Given the description of an element on the screen output the (x, y) to click on. 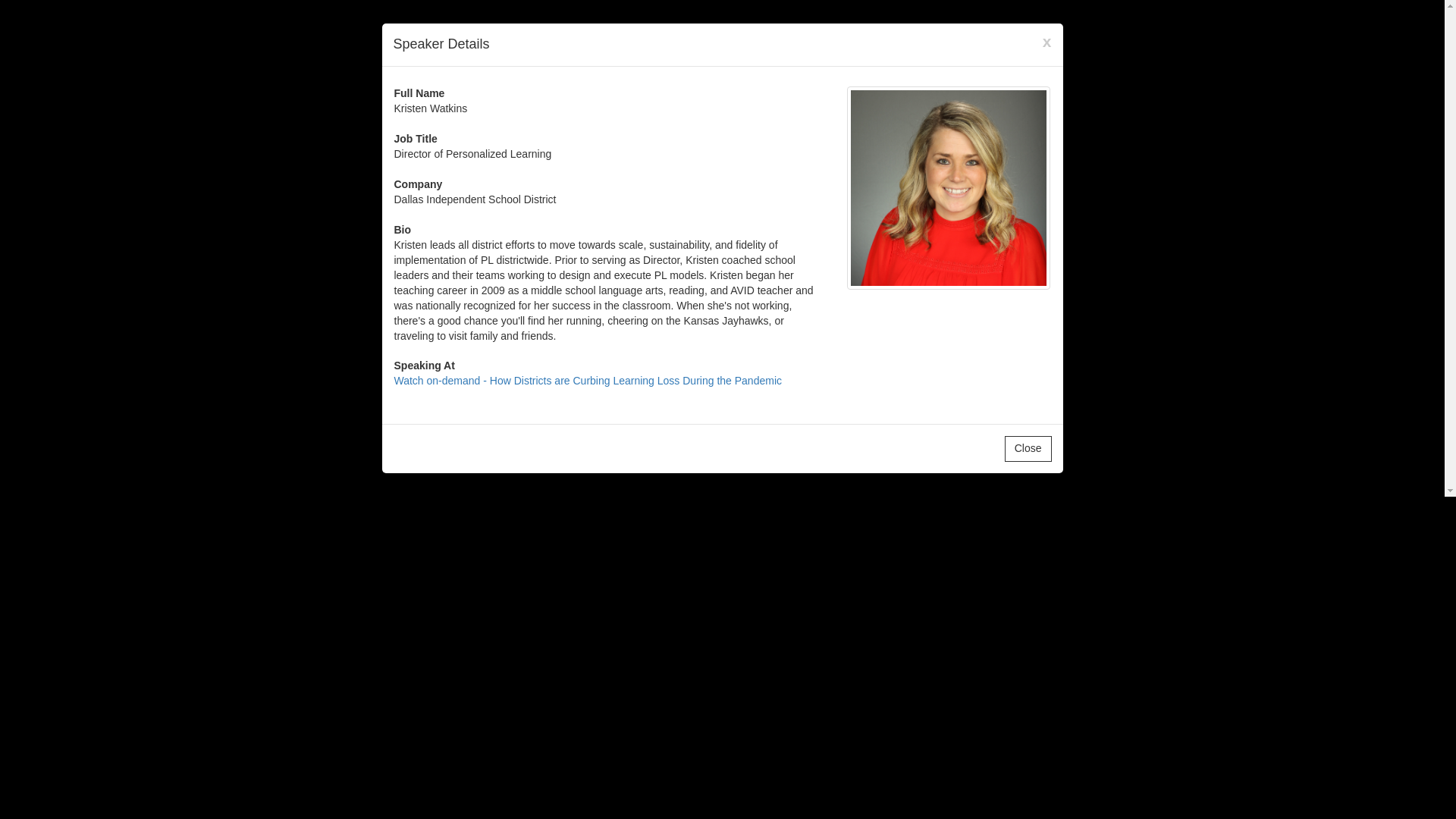
Session Details (588, 380)
Close (1027, 448)
